Given the description of an element on the screen output the (x, y) to click on. 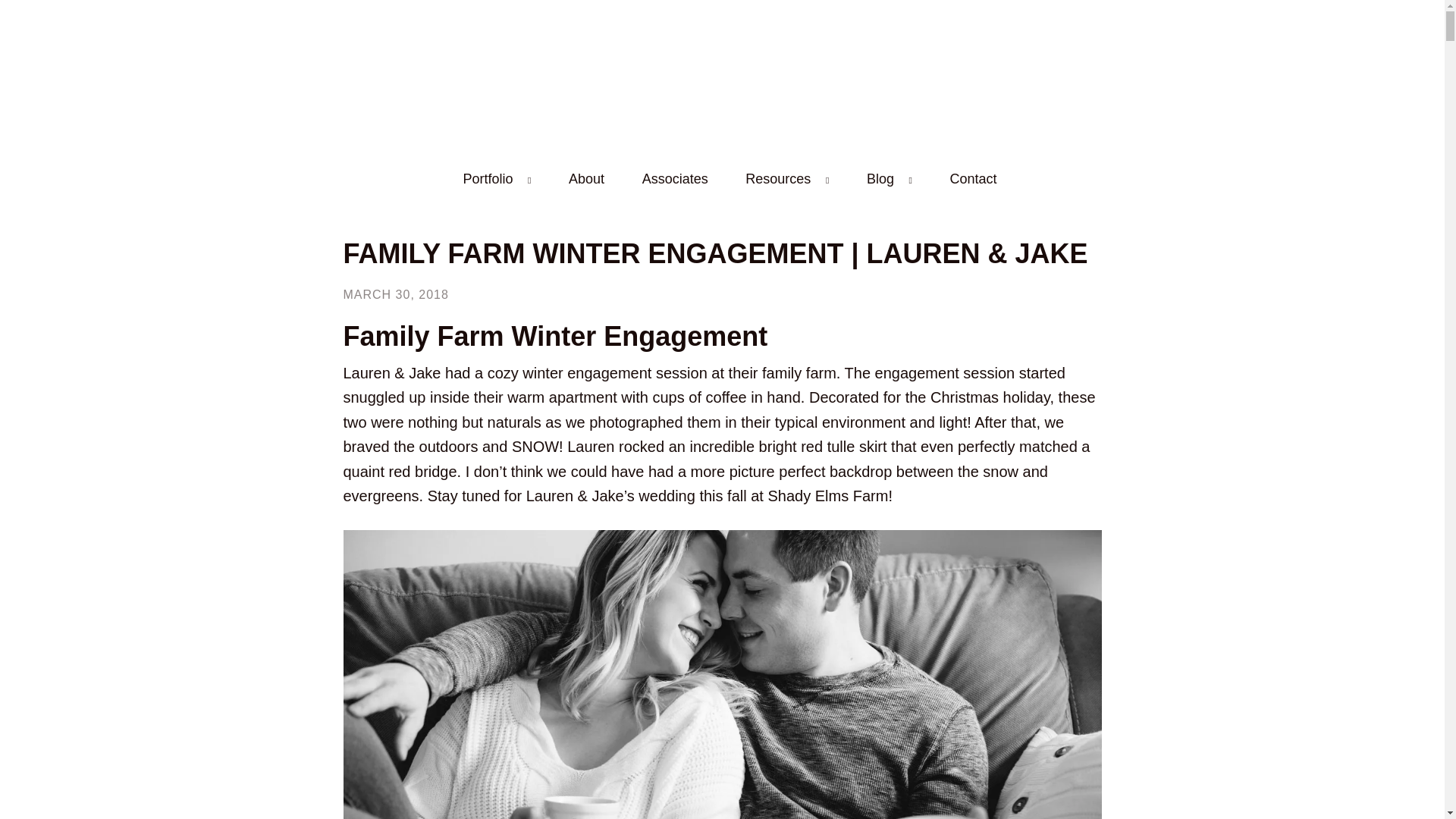
Portfolio (487, 178)
Contact (973, 178)
Blog (880, 178)
Associates (675, 178)
Michael Will Photographers (721, 71)
Resources (778, 178)
About (586, 178)
